Given the description of an element on the screen output the (x, y) to click on. 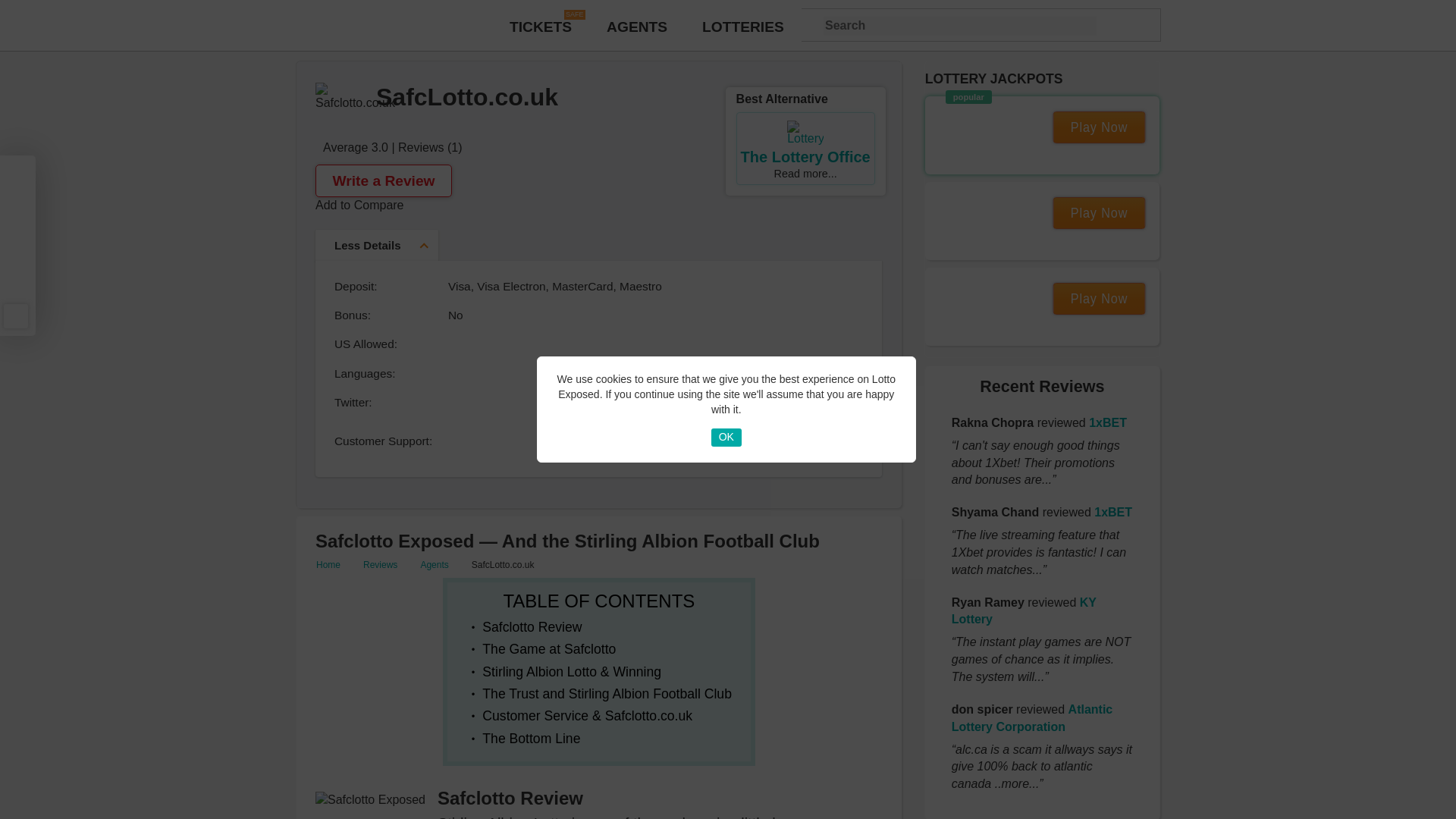
The Game at Safclotto (548, 648)
Share on Twitter (15, 202)
Safclotto Exposed (370, 805)
Safclotto Review (530, 626)
Play Now (1104, 127)
The Trust and Stirling Albion Football Club (606, 693)
Share on Facebook (15, 174)
Send by email (15, 315)
Play Lottery Online Safely (540, 26)
Online Lottery Sites Exposed (636, 26)
